Given the description of an element on the screen output the (x, y) to click on. 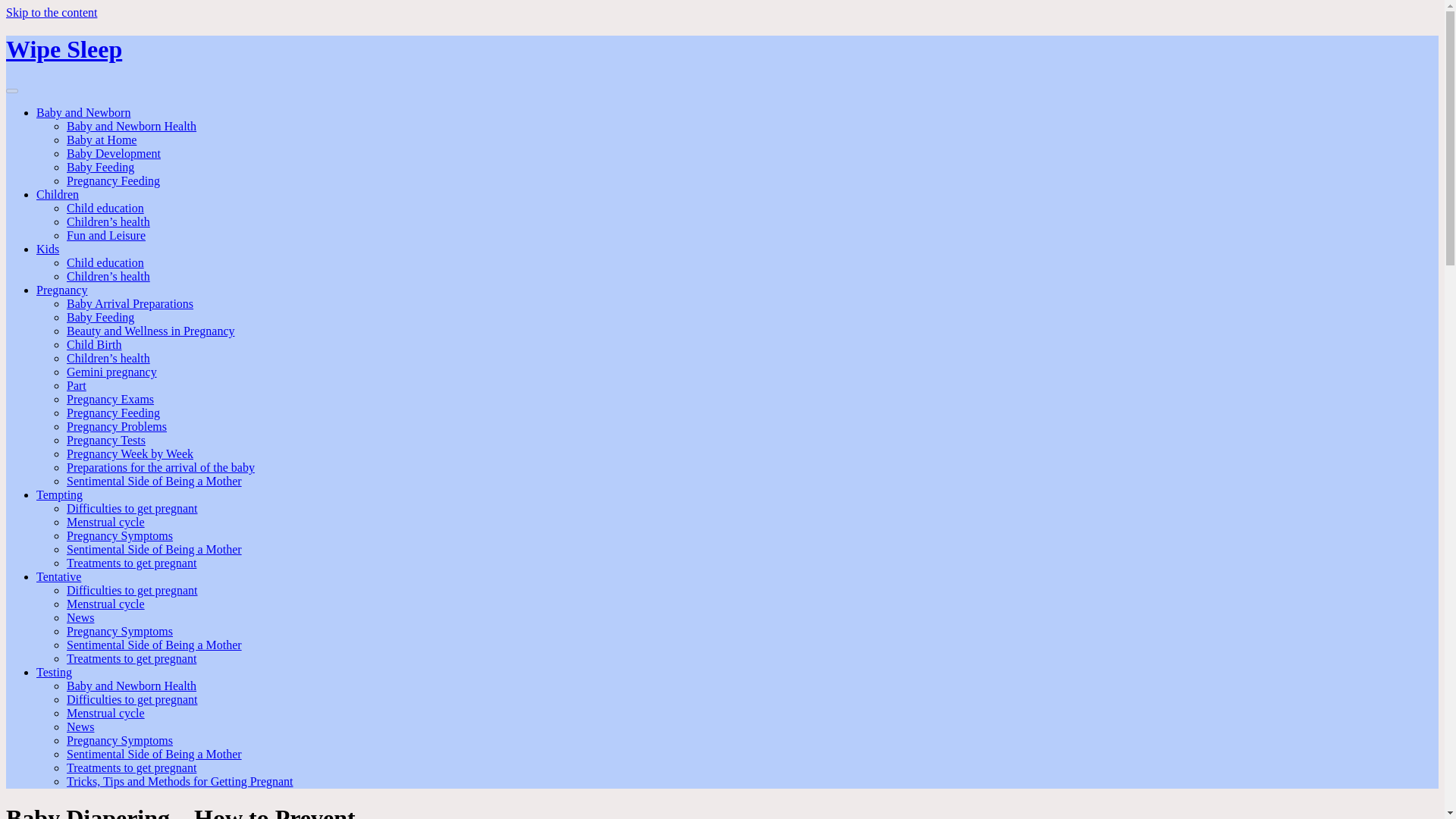
Beauty and Wellness in Pregnancy (150, 330)
Child education (105, 207)
Part (75, 385)
Pregnancy Feeding (113, 180)
Baby and Newborn (83, 112)
Pregnancy Exams (110, 399)
Menstrual cycle (105, 603)
Menstrual cycle (105, 521)
Skip to the content (51, 11)
Baby Development (113, 153)
Tempting (59, 494)
Difficulties to get pregnant (132, 590)
Gemini pregnancy (111, 371)
Children (57, 194)
Pregnancy Symptoms (119, 535)
